Given the description of an element on the screen output the (x, y) to click on. 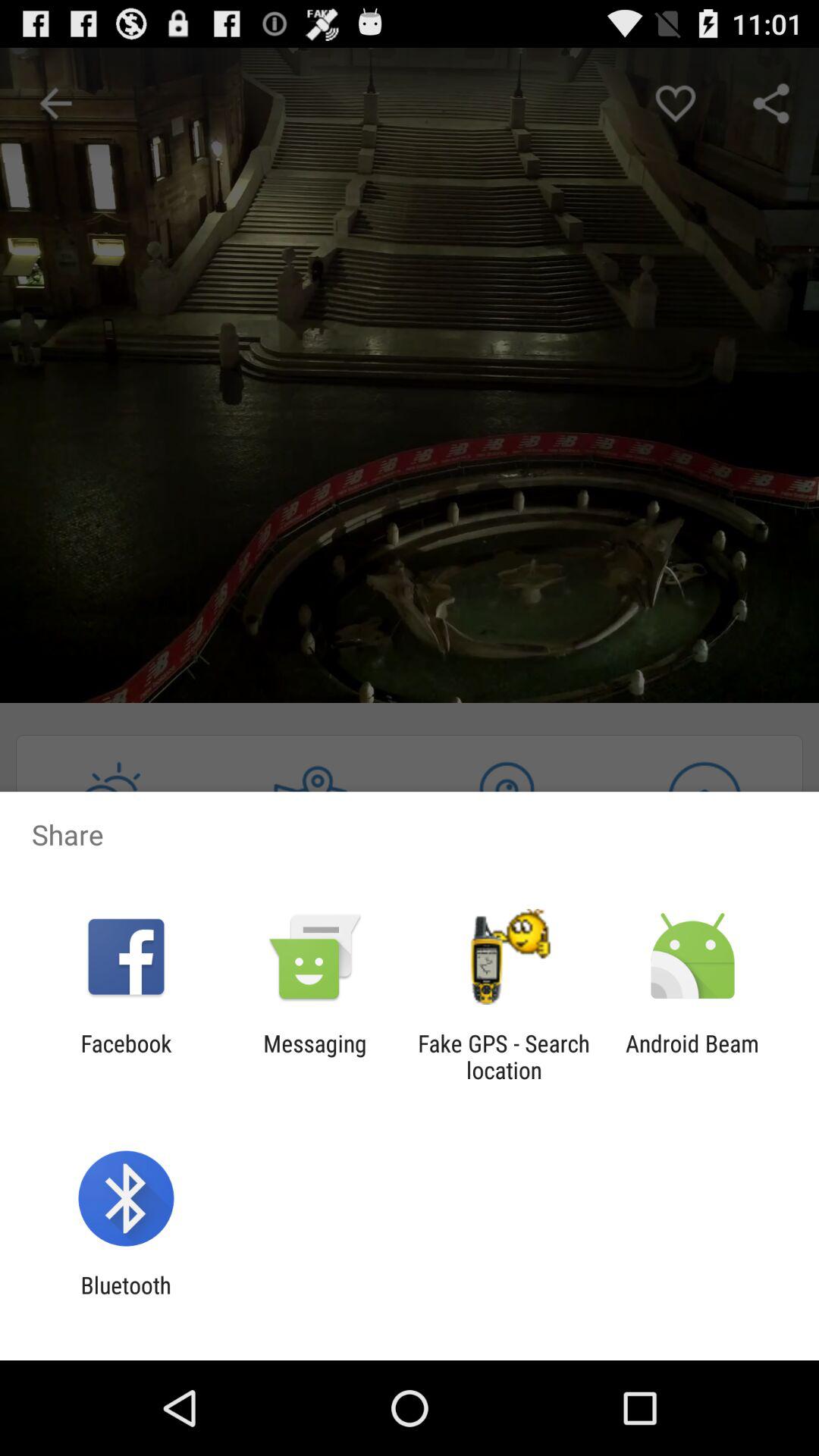
choose item next to the android beam item (503, 1056)
